Given the description of an element on the screen output the (x, y) to click on. 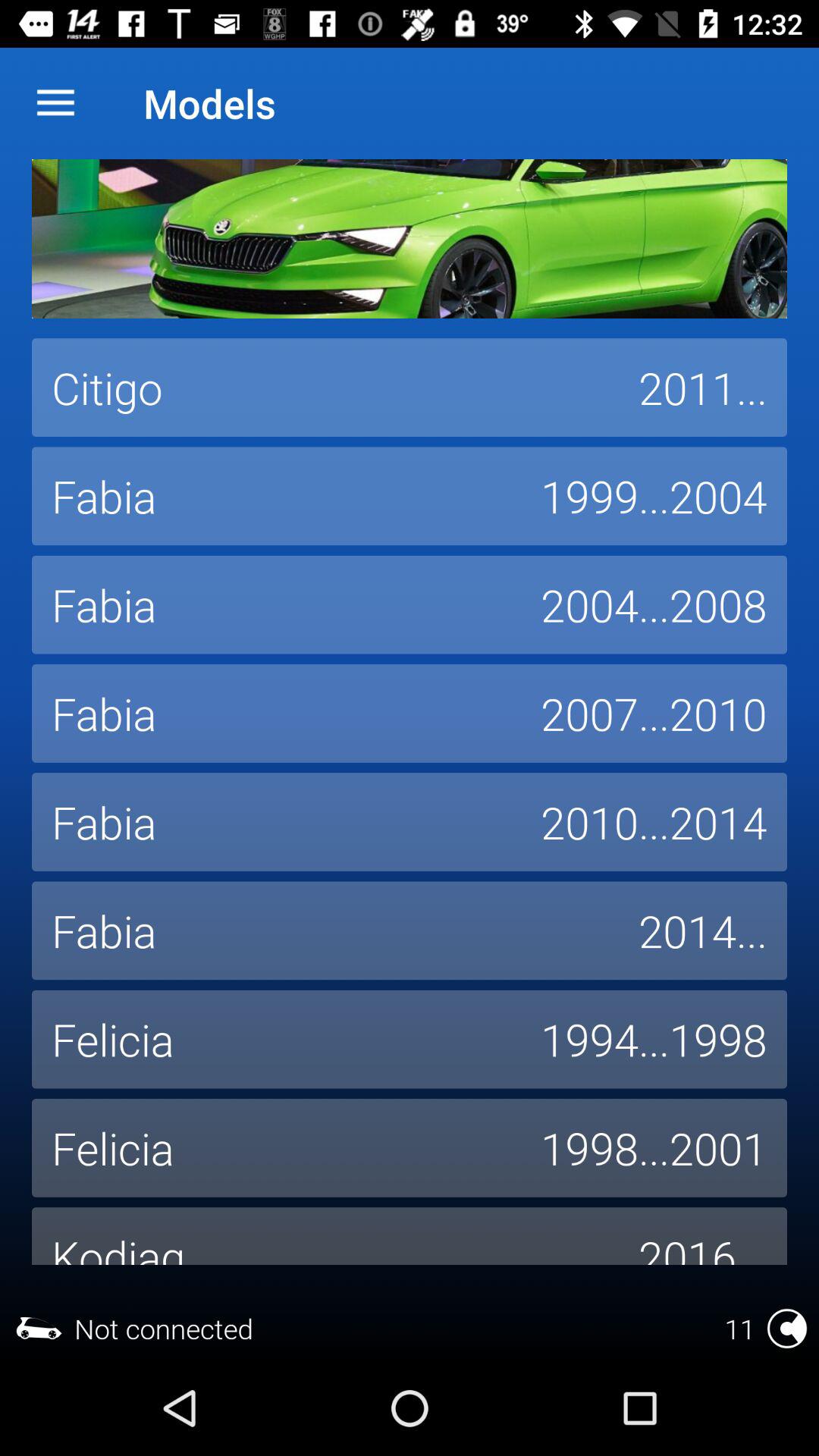
click the icon to the left of 2011... icon (324, 387)
